Given the description of an element on the screen output the (x, y) to click on. 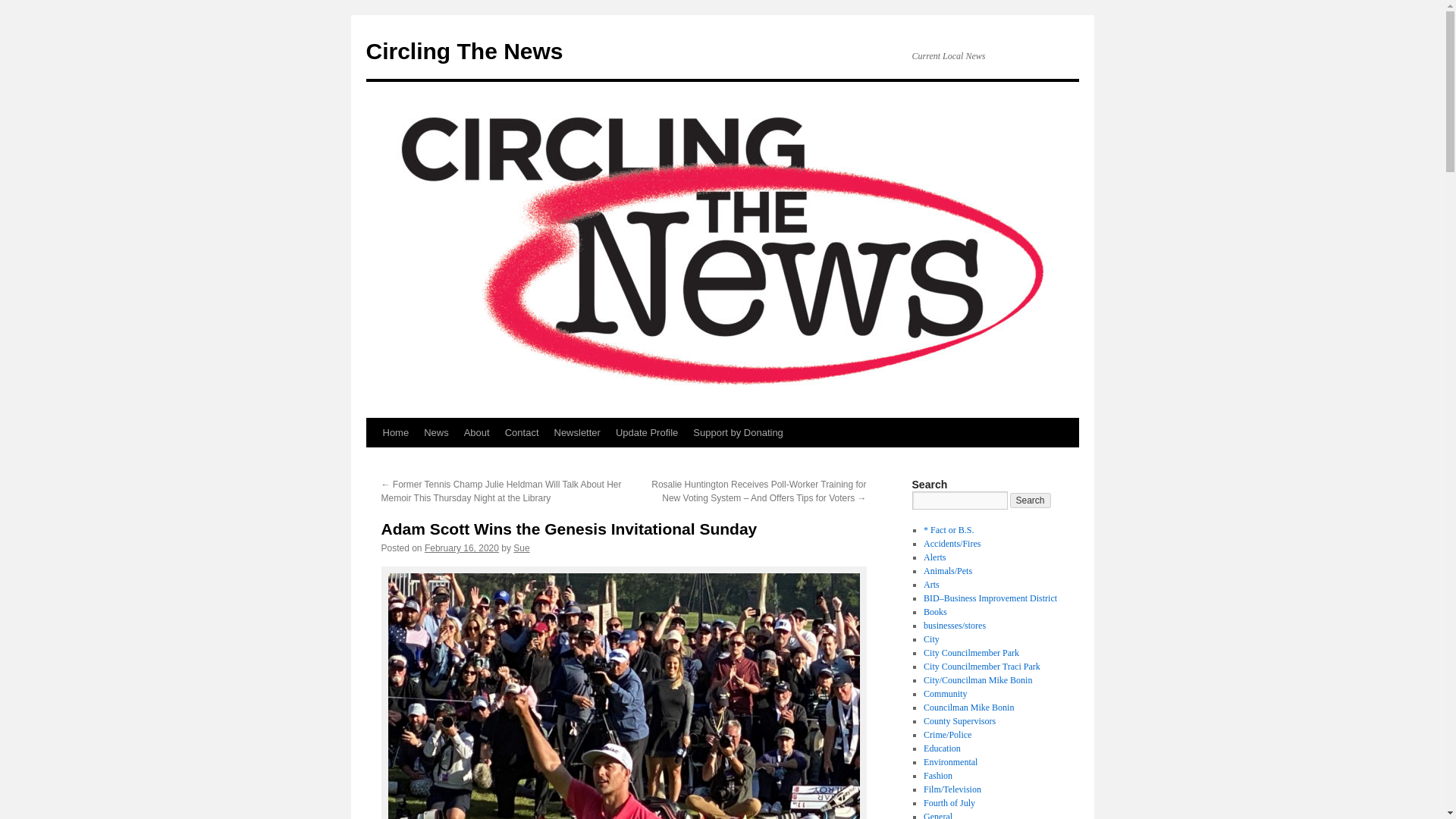
Contact (522, 432)
Search (1030, 500)
Community (944, 693)
Councilman Mike Bonin (968, 706)
Update Profile (646, 432)
Search (1030, 500)
View all posts by Sue (521, 547)
Newsletter (576, 432)
County Supervisors (959, 720)
City Councilmember Park (971, 652)
